Given the description of an element on the screen output the (x, y) to click on. 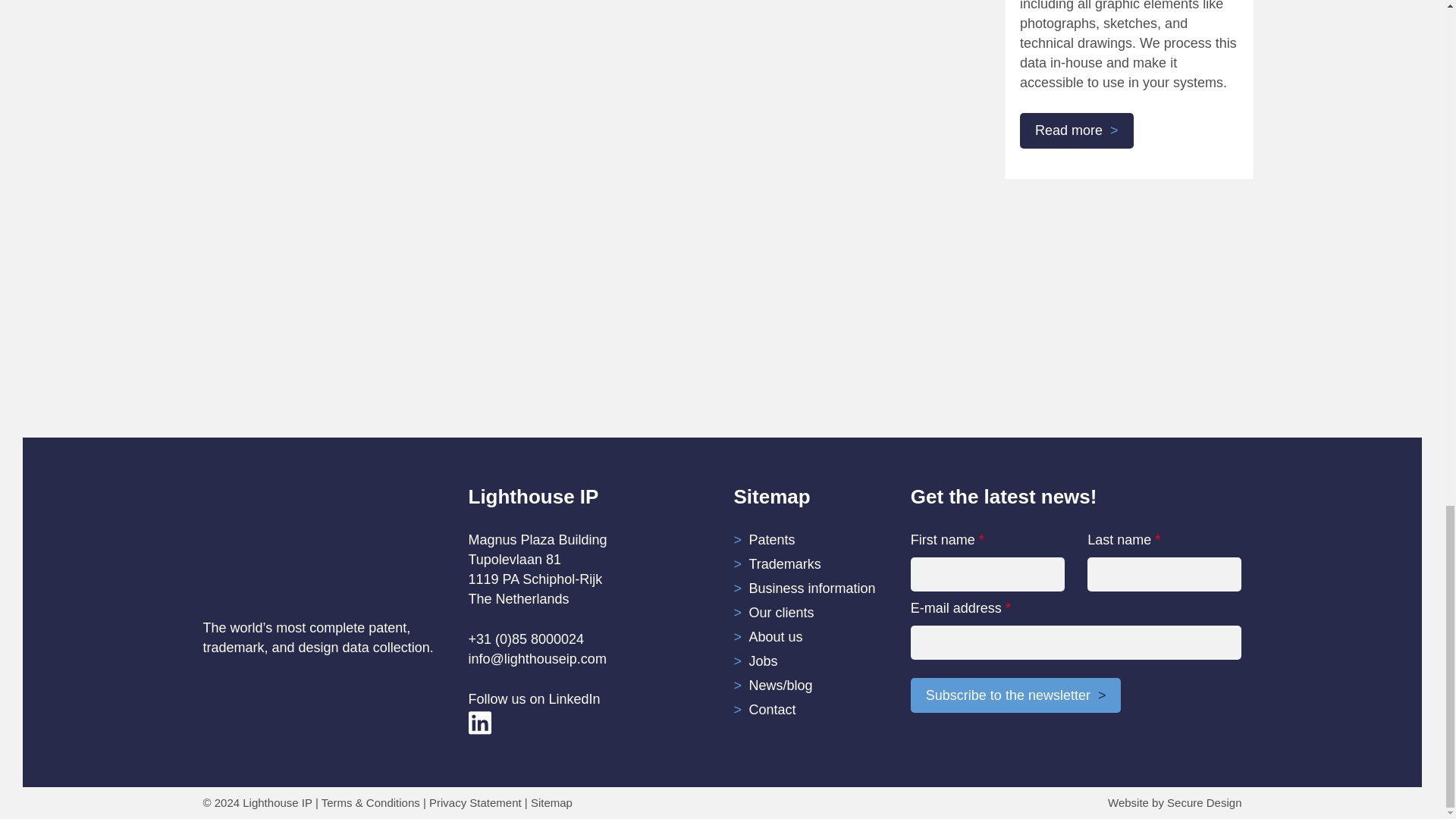
Trademarks (785, 563)
Subscribe to the newsletter (1016, 695)
Read more (1077, 130)
Sitemap (551, 802)
Business information (812, 588)
About us (776, 636)
Our clients (781, 612)
Patents (771, 539)
Jobs (763, 661)
Contact (772, 709)
